Given the description of an element on the screen output the (x, y) to click on. 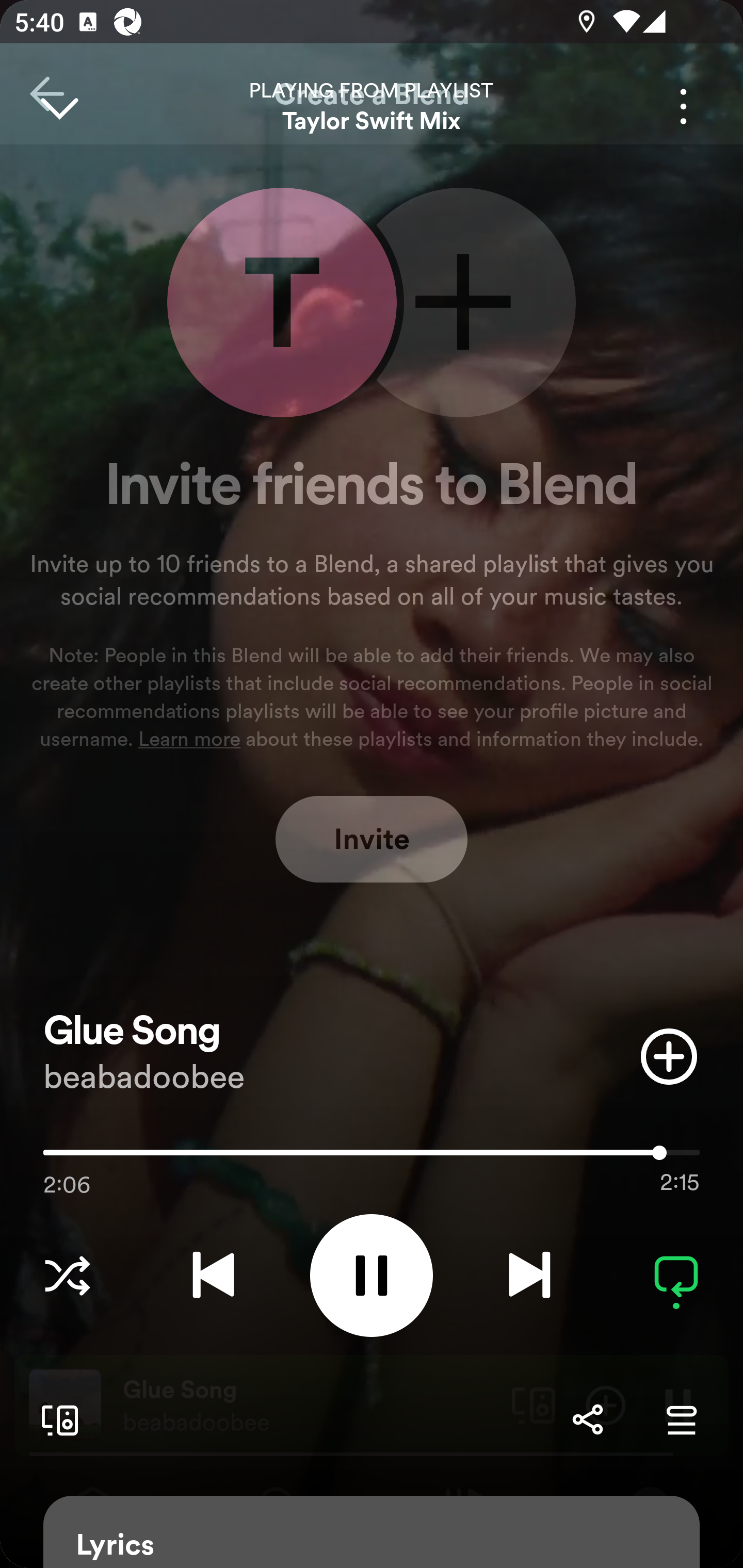
Close (59, 106)
More options for song Glue Song (683, 106)
PLAYING FROM PLAYLIST Taylor Swift Mix (371, 106)
Add item (669, 1056)
2:06 2:15 126280.0 Use volume keys to adjust (371, 1157)
Pause (371, 1275)
Previous (212, 1275)
Next (529, 1275)
Choose a Listening Mode (66, 1275)
Repeat (676, 1275)
Share (587, 1419)
Go to Queue (681, 1419)
Connect to a device. Opens the devices menu (55, 1419)
Lyrics (371, 1531)
